Given the description of an element on the screen output the (x, y) to click on. 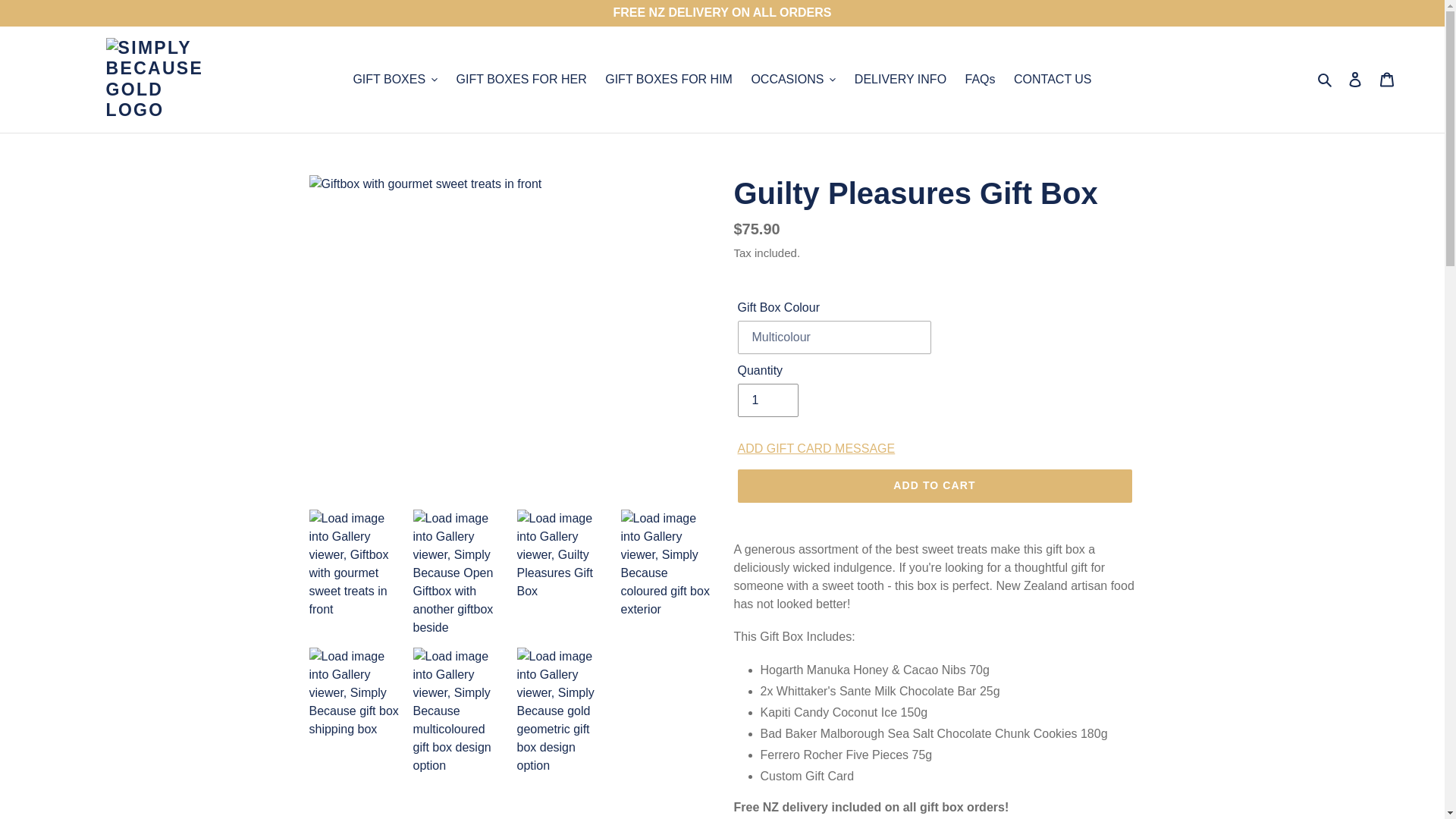
GIFT BOXES FOR HIM (667, 78)
CONTACT US (1052, 78)
Search (1326, 79)
Cart (1387, 79)
GIFT BOXES (395, 78)
GIFT BOXES FOR HER (521, 78)
DELIVERY INFO (900, 78)
FREE NZ DELIVERY ON ALL ORDERS (721, 12)
1 (766, 400)
Log in (1355, 79)
FAQs (980, 78)
OCCASIONS (792, 78)
